Given the description of an element on the screen output the (x, y) to click on. 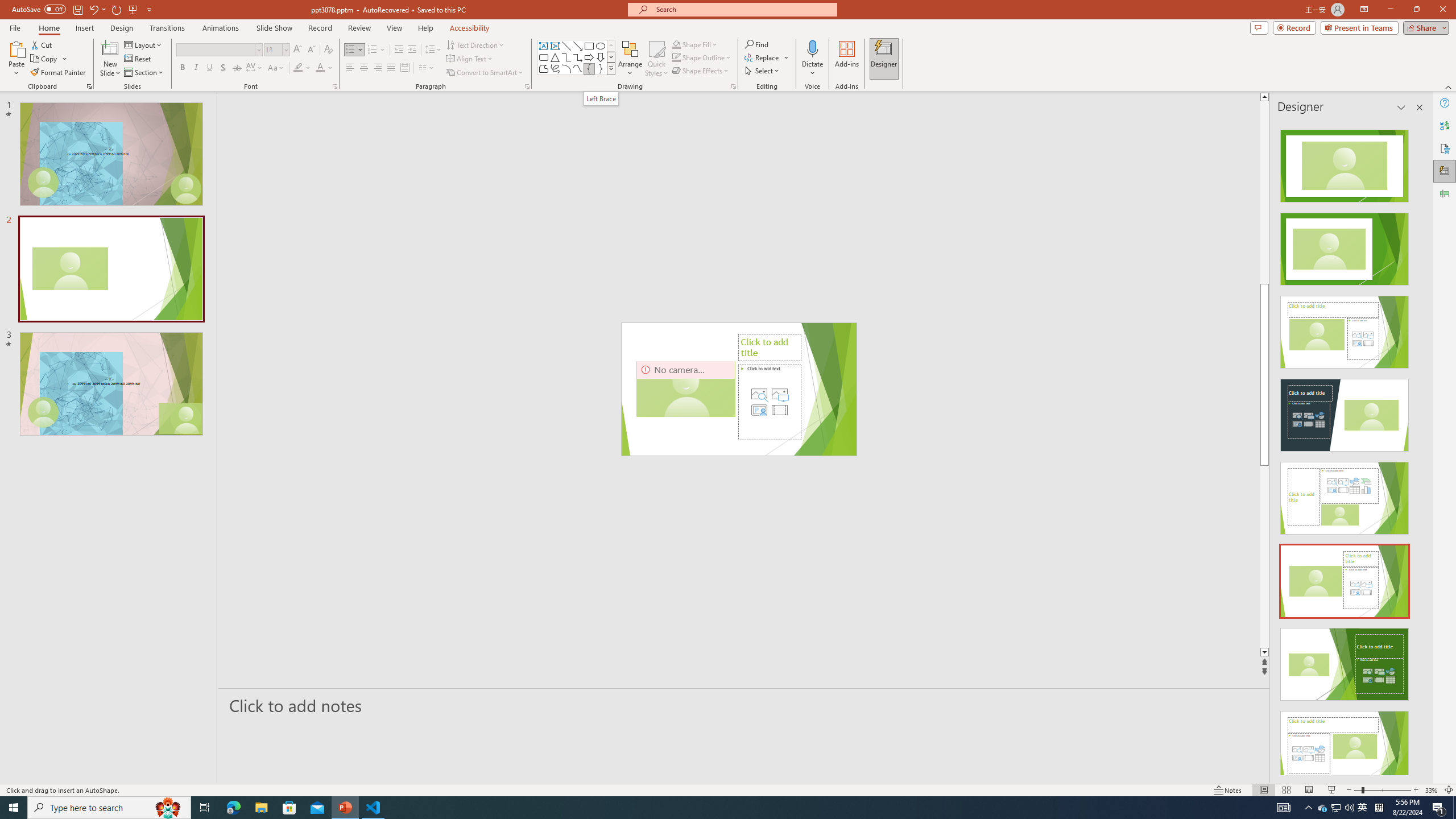
Curve (577, 68)
Dictate (812, 58)
Class: NetUIImage (610, 68)
Format Object... (733, 85)
Design Idea (1344, 743)
Page up (1302, 192)
Font (219, 49)
Slide Notes (743, 705)
Page down (1302, 556)
Convert to SmartArt (485, 72)
Paste (16, 48)
